Given the description of an element on the screen output the (x, y) to click on. 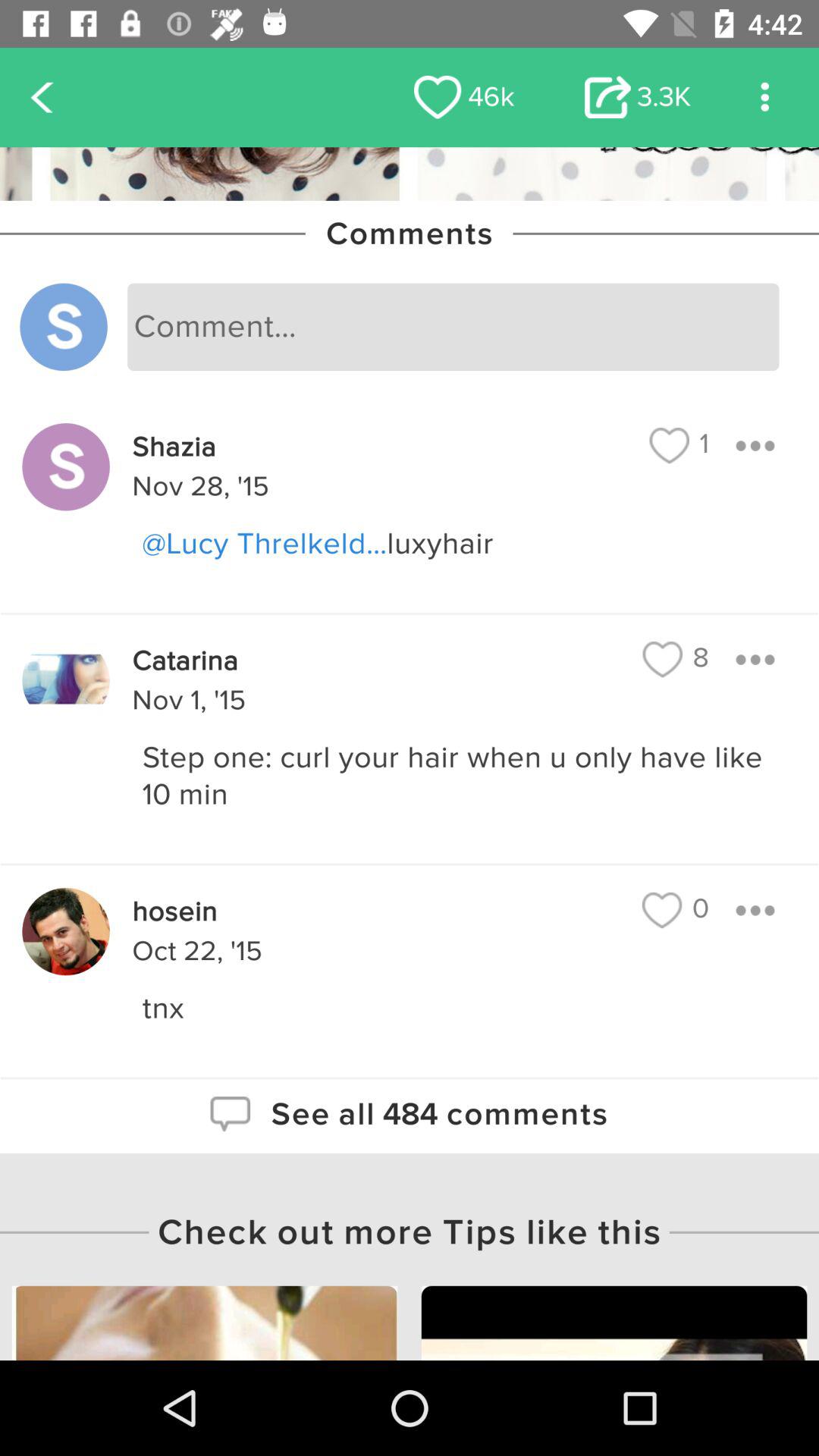
expand conversation (755, 910)
